Given the description of an element on the screen output the (x, y) to click on. 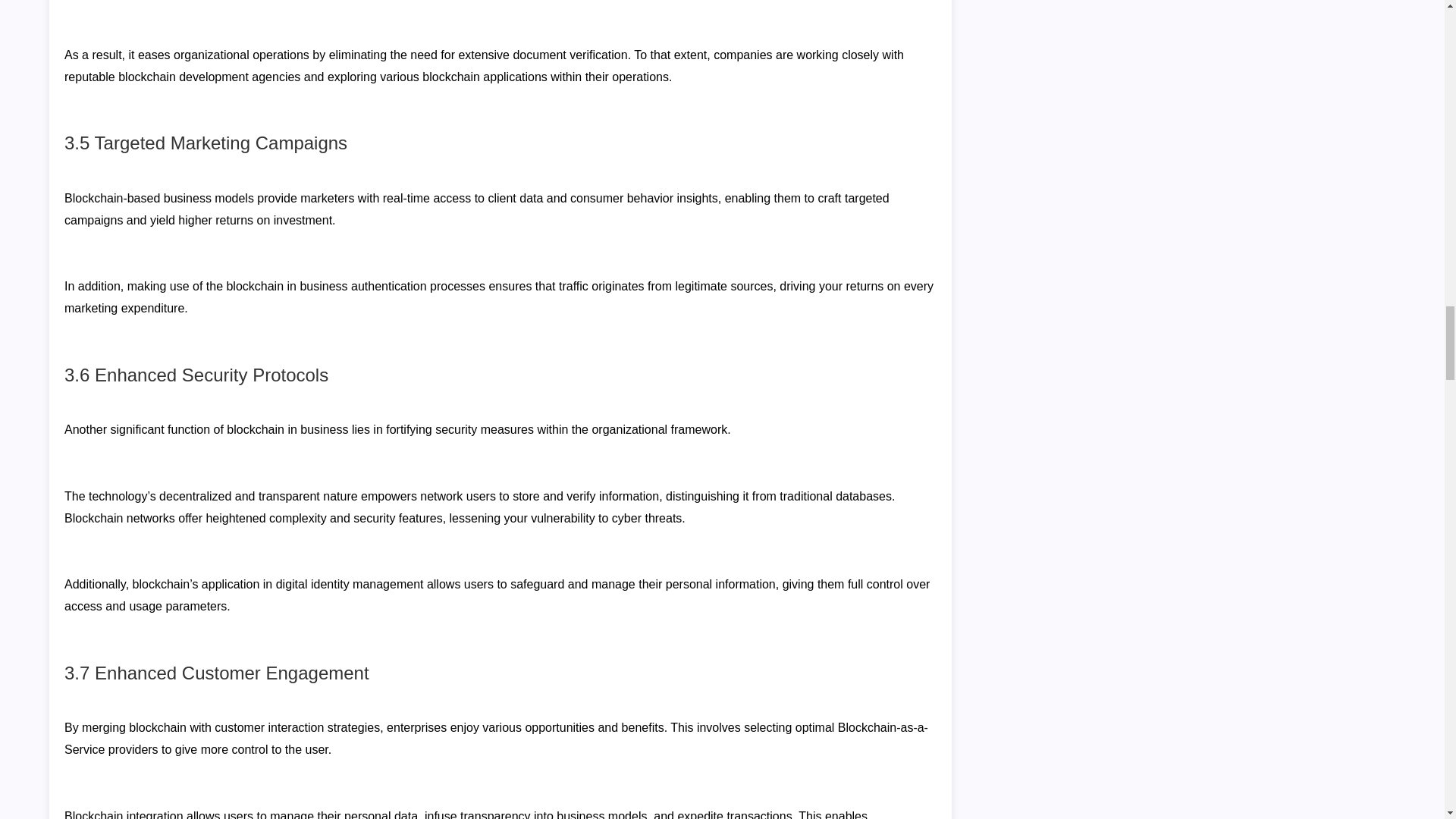
blockchain development agencies (208, 76)
